Given the description of an element on the screen output the (x, y) to click on. 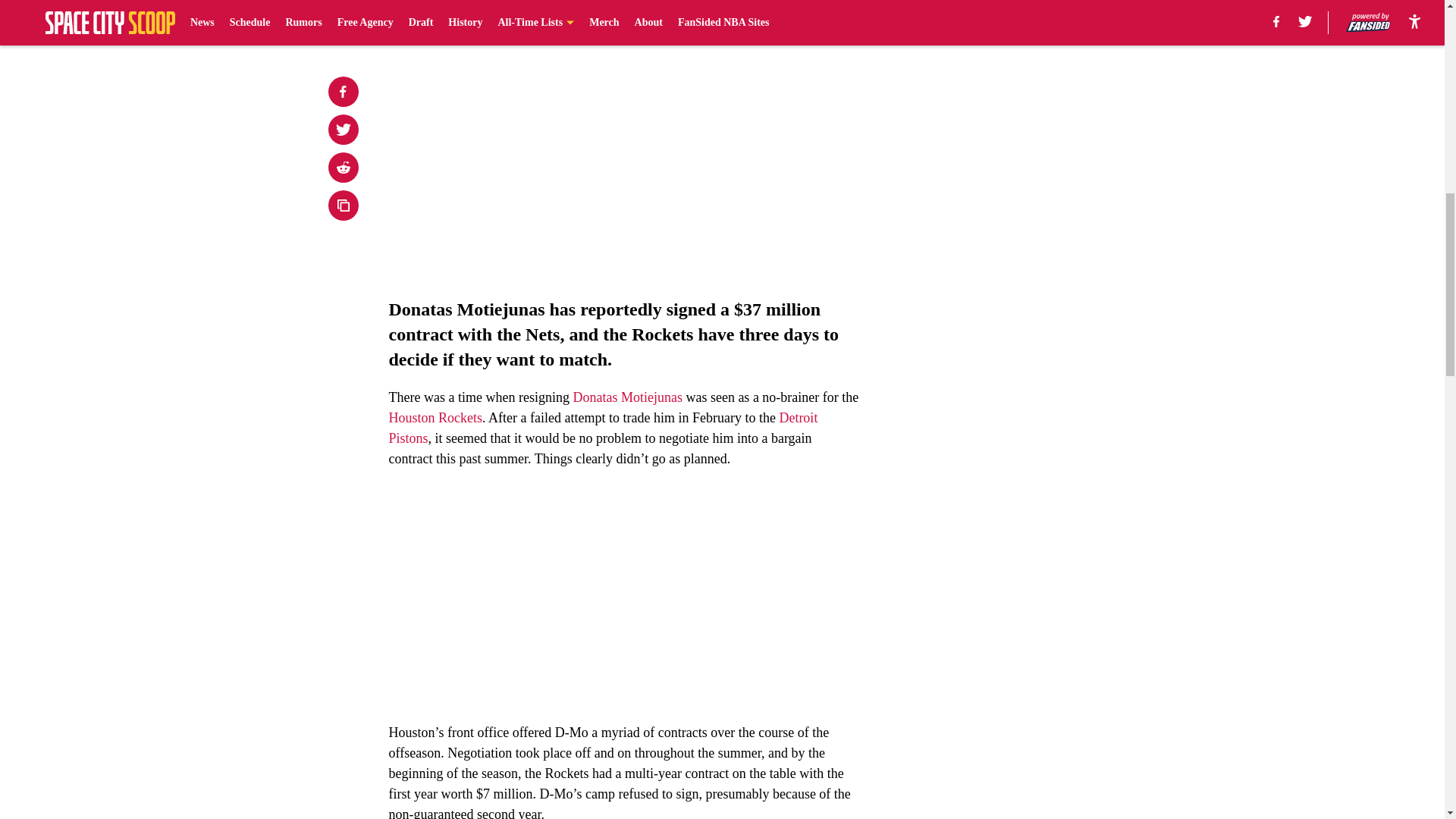
Houston Rockets (434, 417)
Donatas Motiejunas (626, 396)
Detroit Pistons (602, 427)
